Given the description of an element on the screen output the (x, y) to click on. 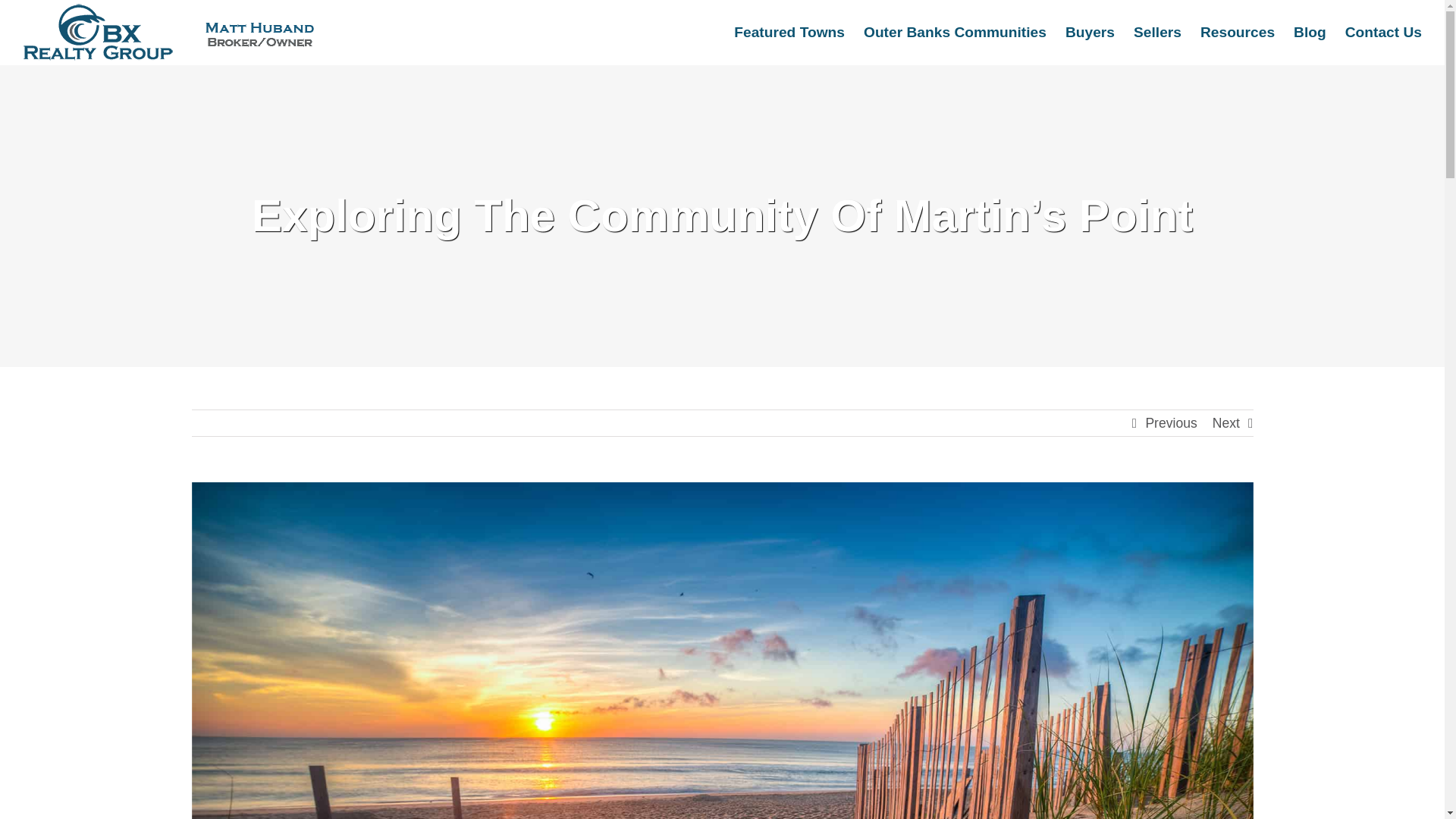
Featured Towns (788, 32)
Outer Banks Communities (954, 32)
